Given the description of an element on the screen output the (x, y) to click on. 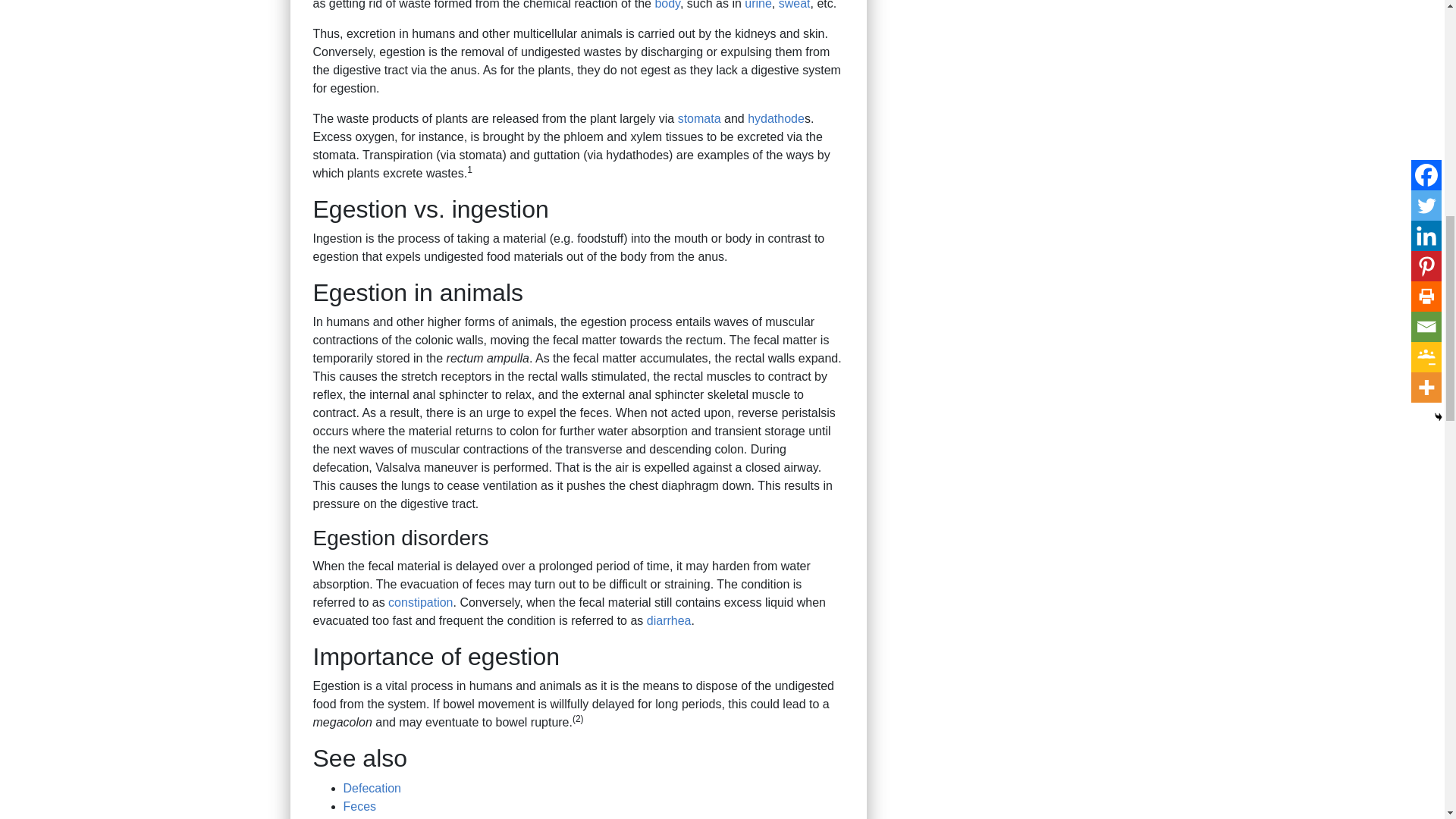
stomata (699, 118)
sweat (794, 4)
Defecation (371, 788)
constipation (420, 602)
Feces (358, 806)
hydathode (776, 118)
urine (757, 4)
diarrhea (668, 620)
body (666, 4)
